Given the description of an element on the screen output the (x, y) to click on. 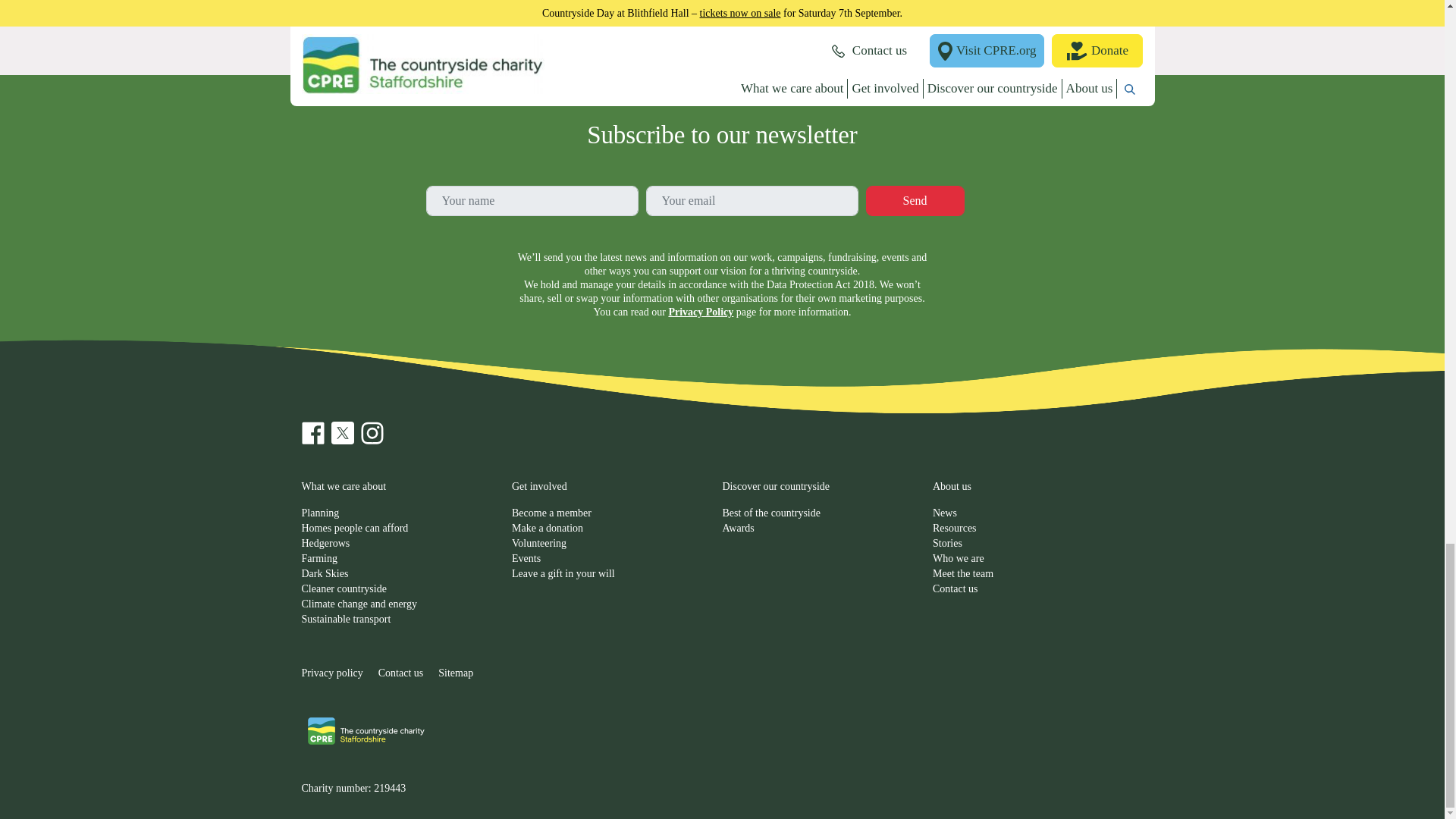
Star Count 2022: a bright outlook for a darker future? (830, 10)
Send (914, 200)
Star Count 2023 (613, 10)
Star Count 2021: explore what we learned (1045, 10)
